Given the description of an element on the screen output the (x, y) to click on. 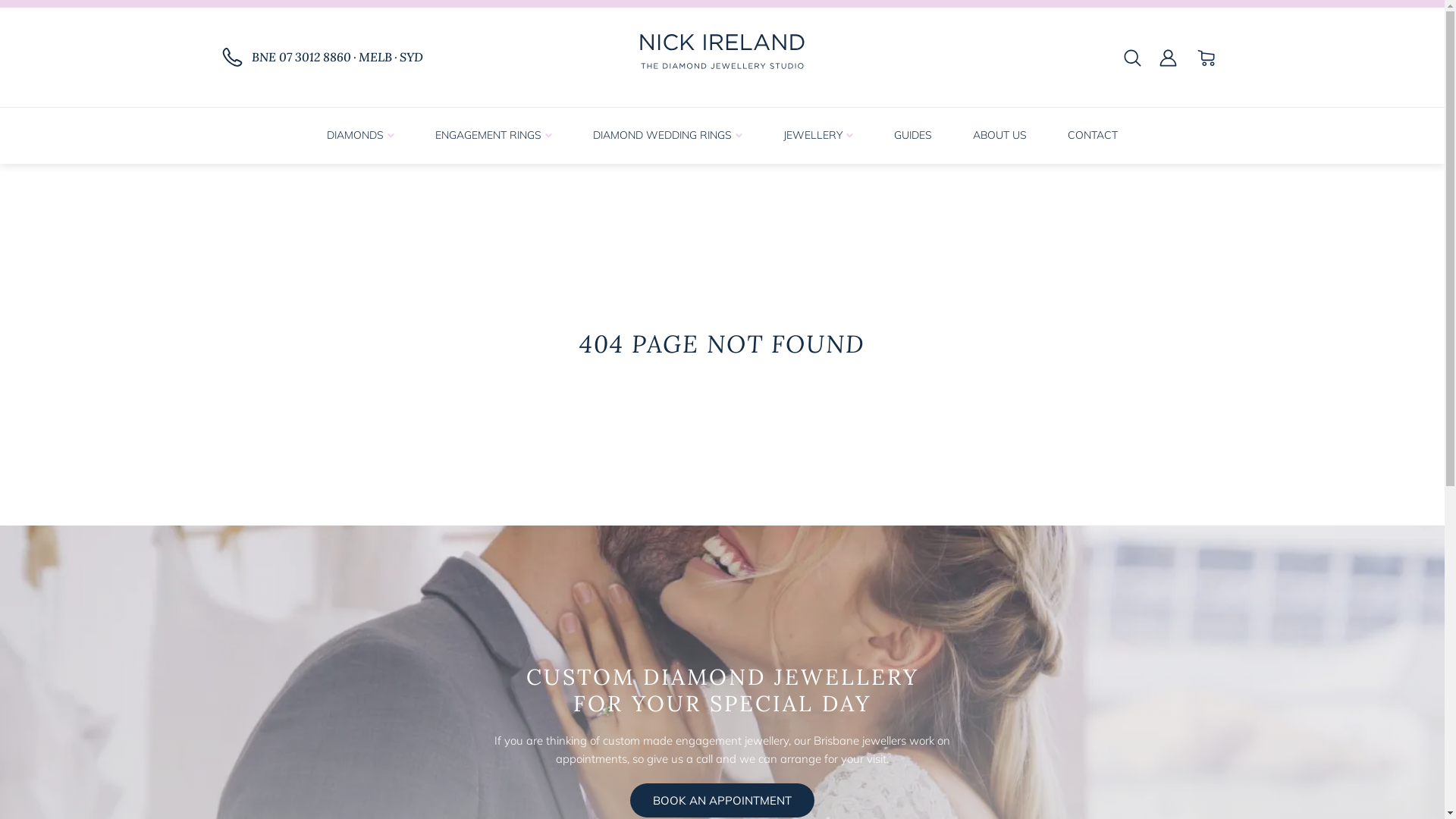
ENGAGEMENT RINGS Element type: text (493, 137)
DIAMONDS Element type: text (360, 137)
MELB Element type: text (374, 56)
CONTACT Element type: text (1092, 137)
GUIDES Element type: text (912, 137)
ABOUT US Element type: text (999, 137)
SYD Element type: text (410, 56)
DIAMOND WEDDING RINGS Element type: text (667, 137)
JEWELLERY Element type: text (818, 137)
BNE 07 3012 8860 Element type: text (301, 56)
BOOK AN APPOINTMENT Element type: text (722, 800)
